Given the description of an element on the screen output the (x, y) to click on. 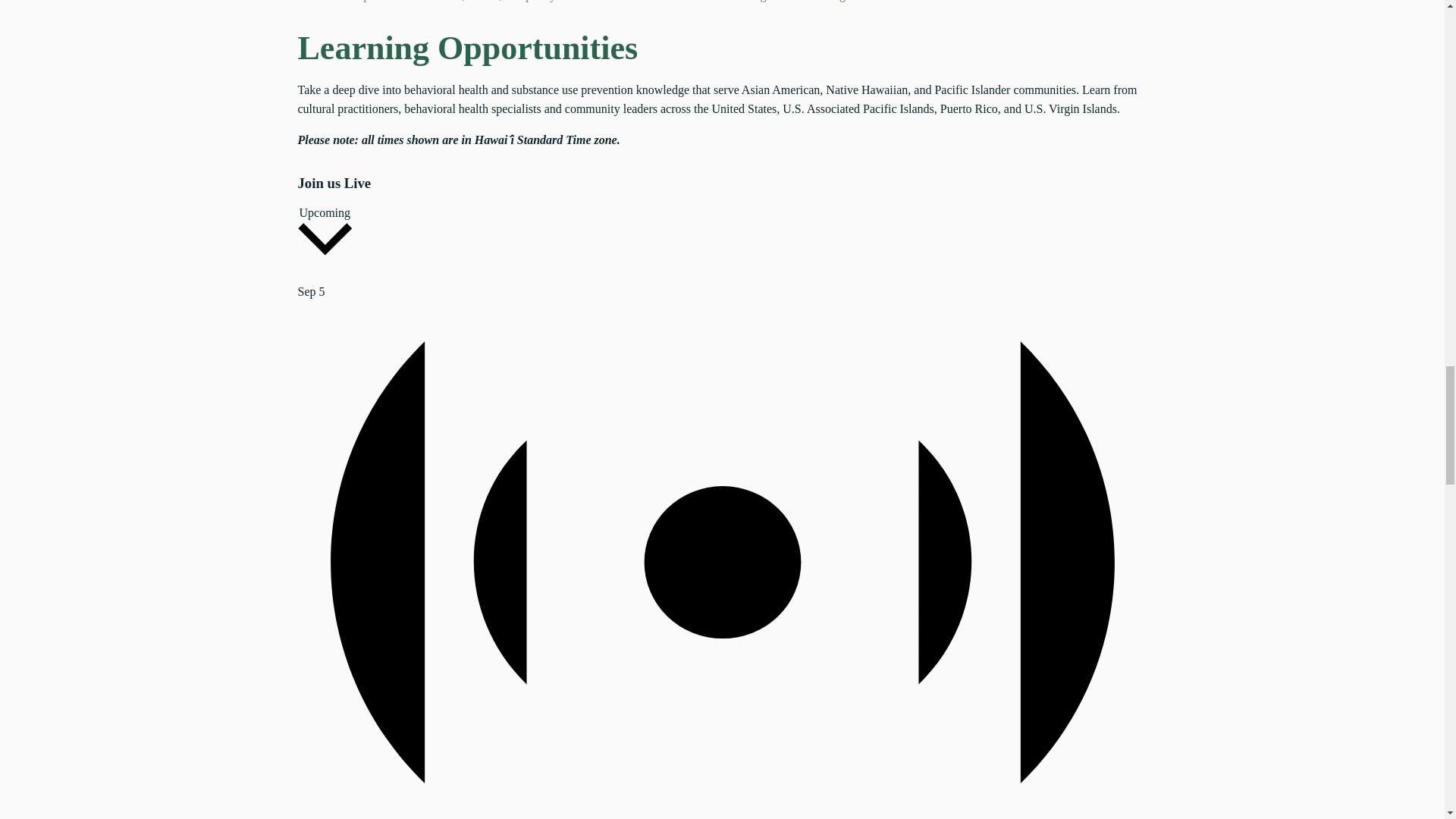
Click to toggle datepicker (324, 233)
